Given the description of an element on the screen output the (x, y) to click on. 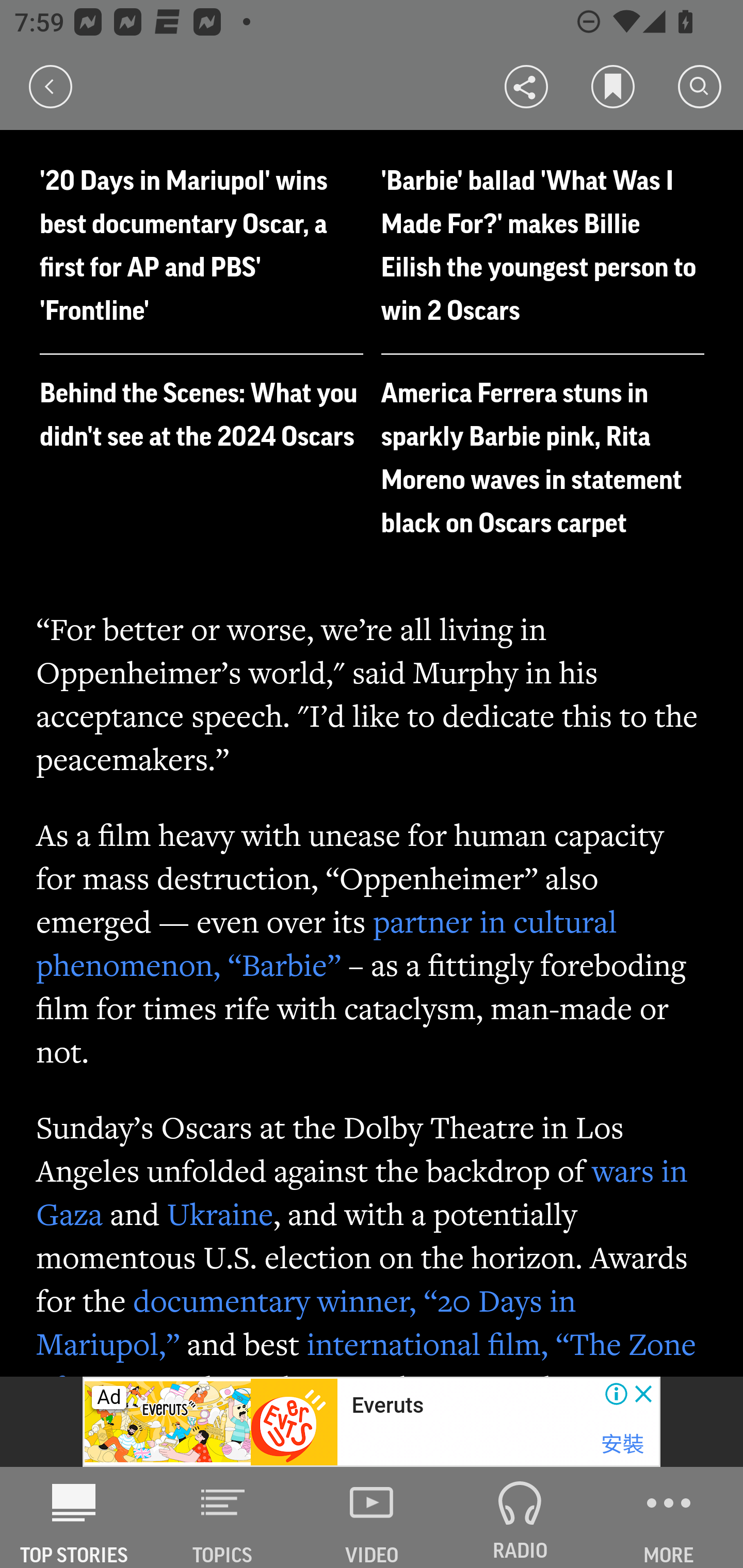
partner in cultural phenomenon, “Barbie” (326, 942)
wars in Gaza (362, 1192)
Ukraine (220, 1213)
documentary winner, “20 Days in Mariupol,” (307, 1321)
international film, “The Zone of Interest,” (366, 1348)
Everuts (387, 1405)
安裝 (621, 1444)
AP News TOP STORIES (74, 1517)
TOPICS (222, 1517)
VIDEO (371, 1517)
RADIO (519, 1517)
MORE (668, 1517)
